Given the description of an element on the screen output the (x, y) to click on. 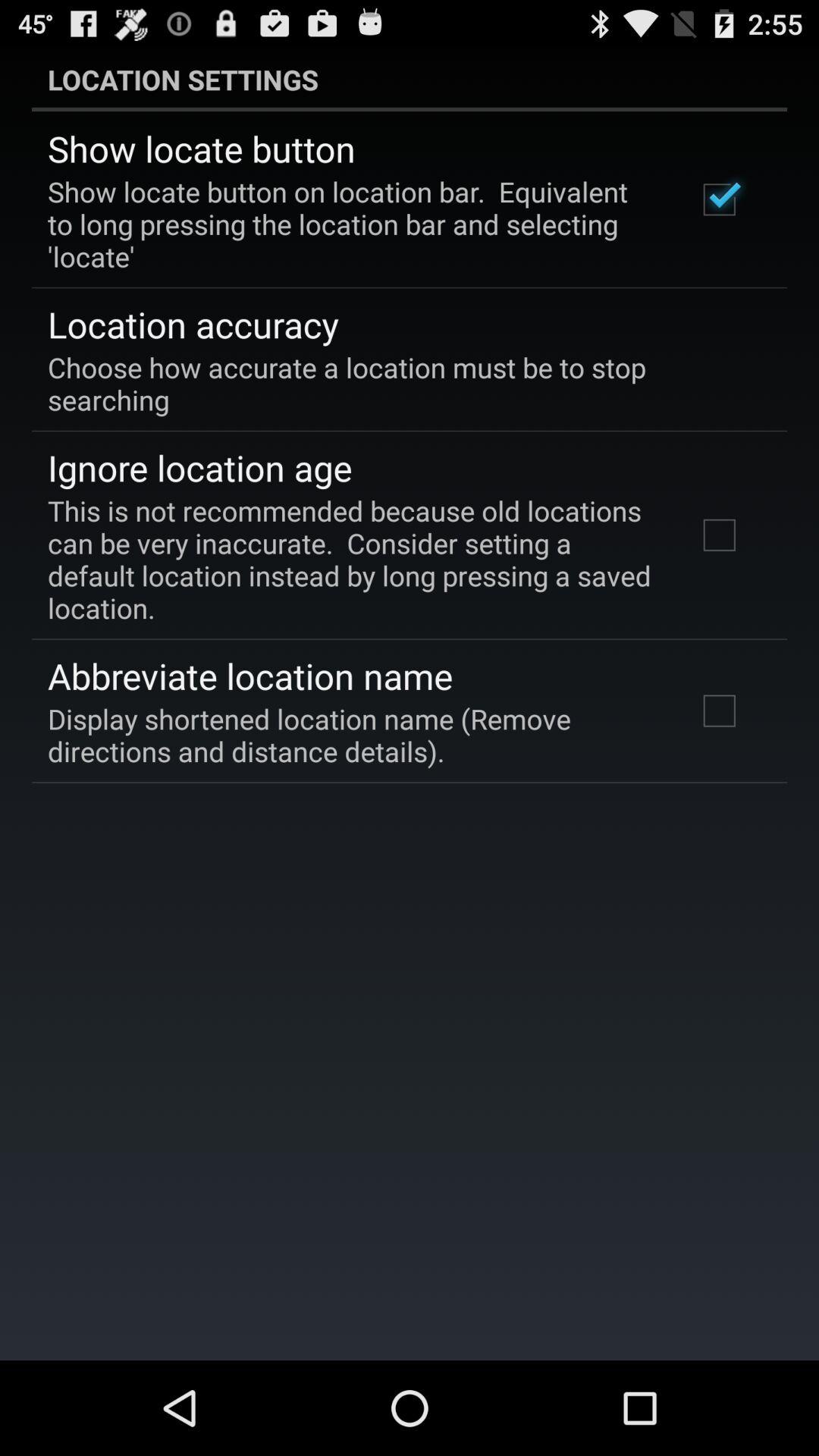
click choose how accurate app (399, 383)
